Given the description of an element on the screen output the (x, y) to click on. 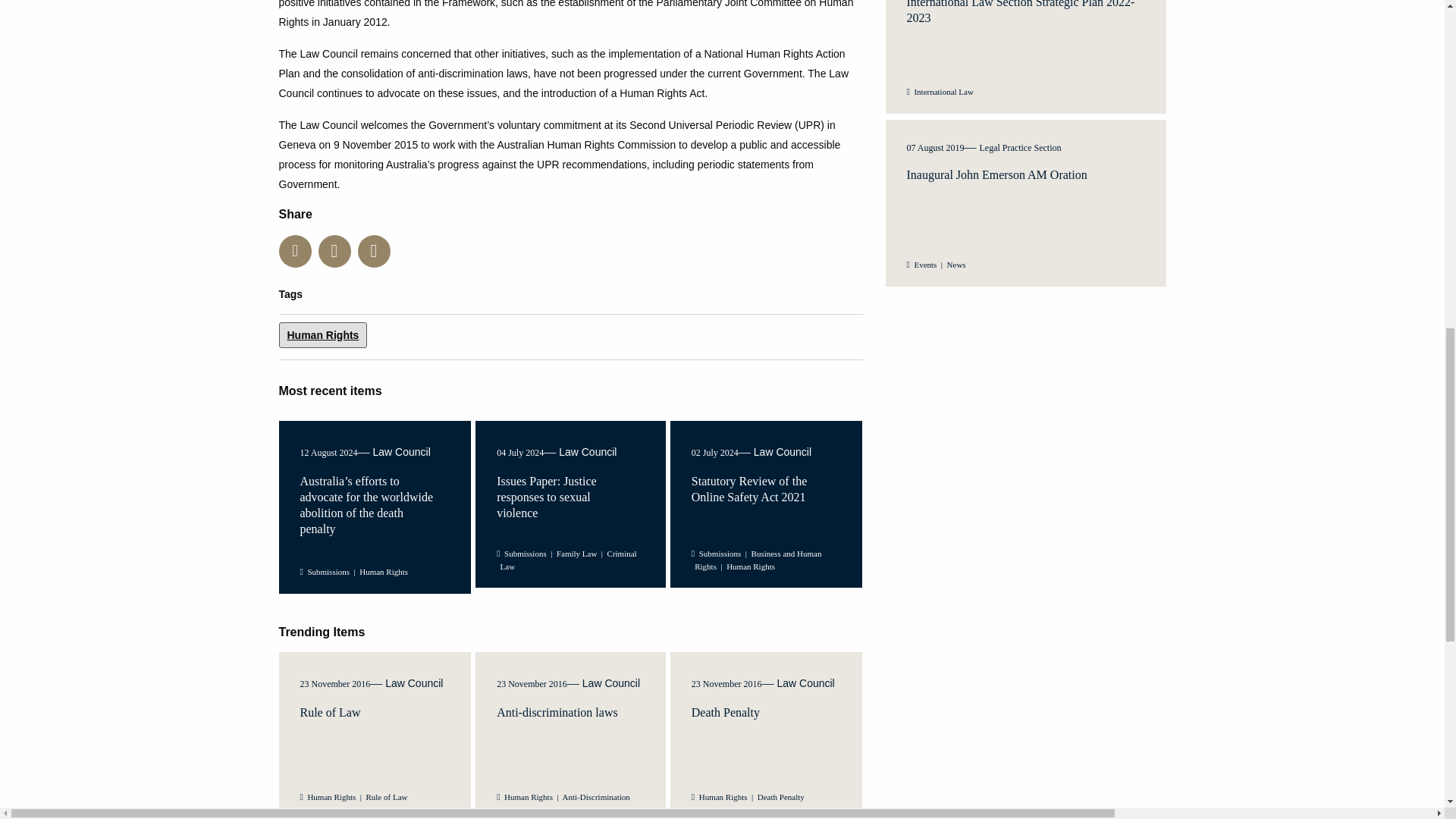
share this page on facebook (374, 251)
share this page on linkedin (334, 251)
share this page on twitter (295, 251)
